Given the description of an element on the screen output the (x, y) to click on. 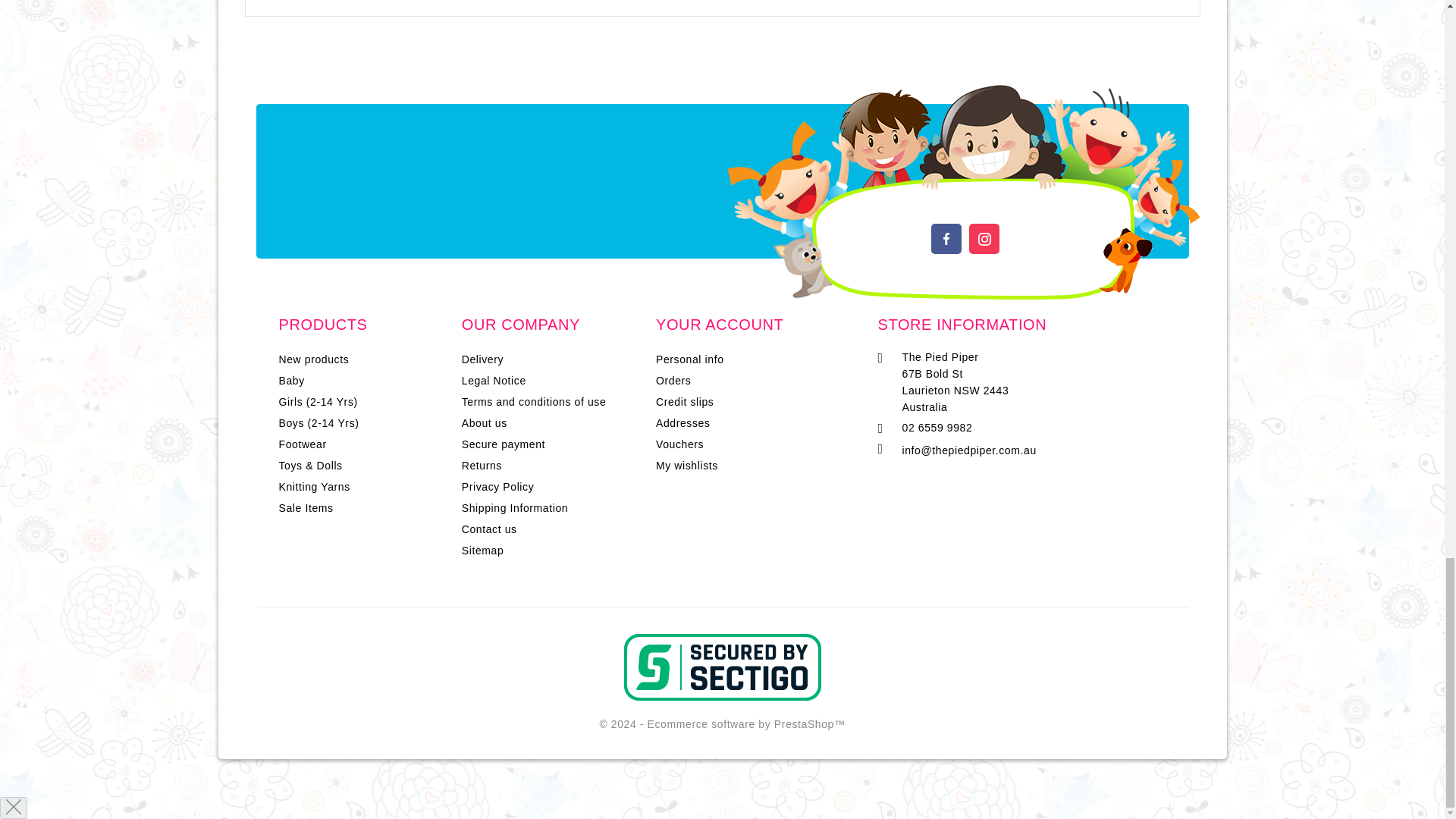
Addresses (683, 422)
Orders (673, 380)
My wishlists (686, 465)
Vouchers (679, 444)
Credit slips (684, 401)
Personal info (689, 358)
